Given the description of an element on the screen output the (x, y) to click on. 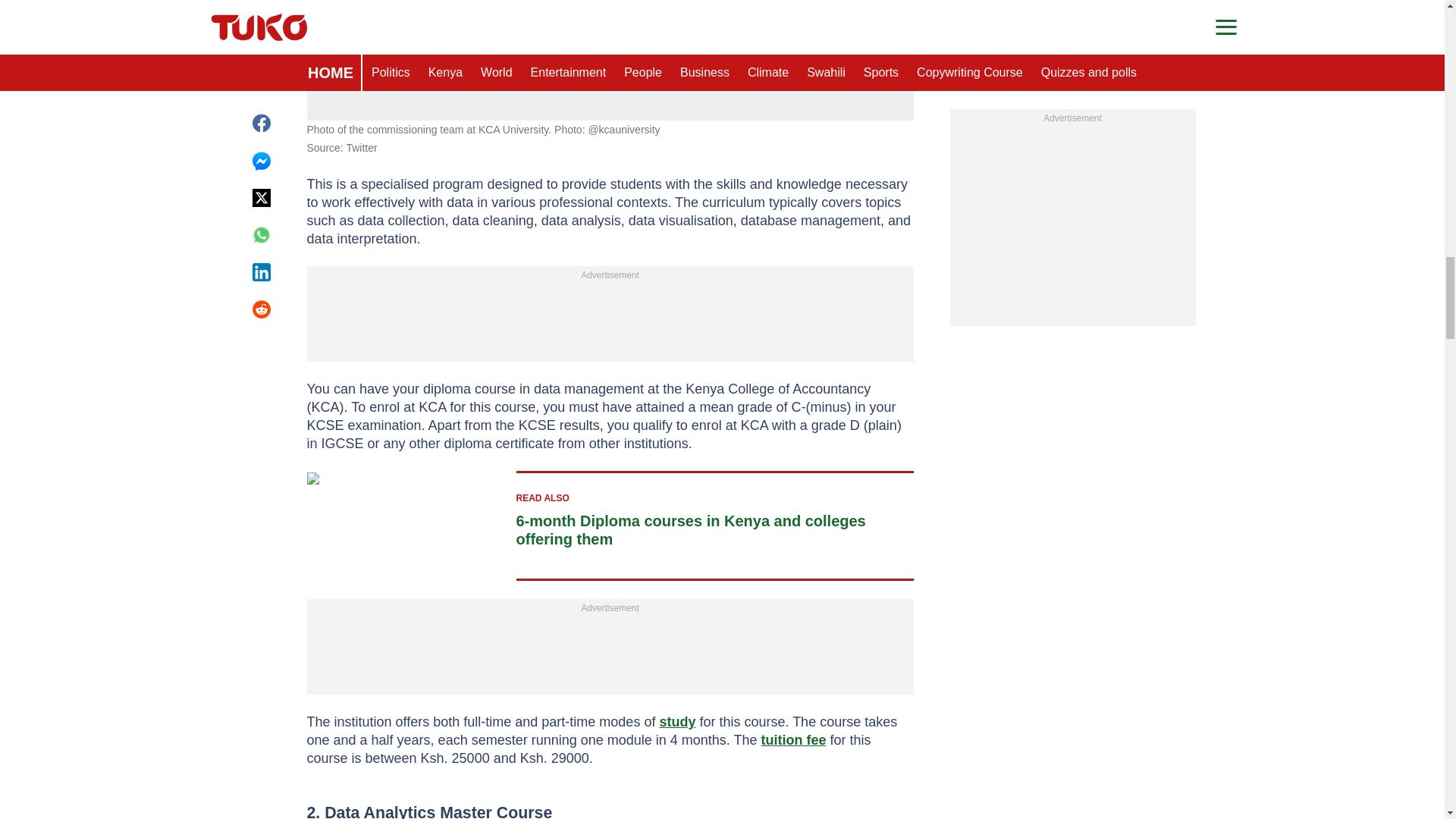
Photo of the commissioning team at KCA University. (609, 25)
